Given the description of an element on the screen output the (x, y) to click on. 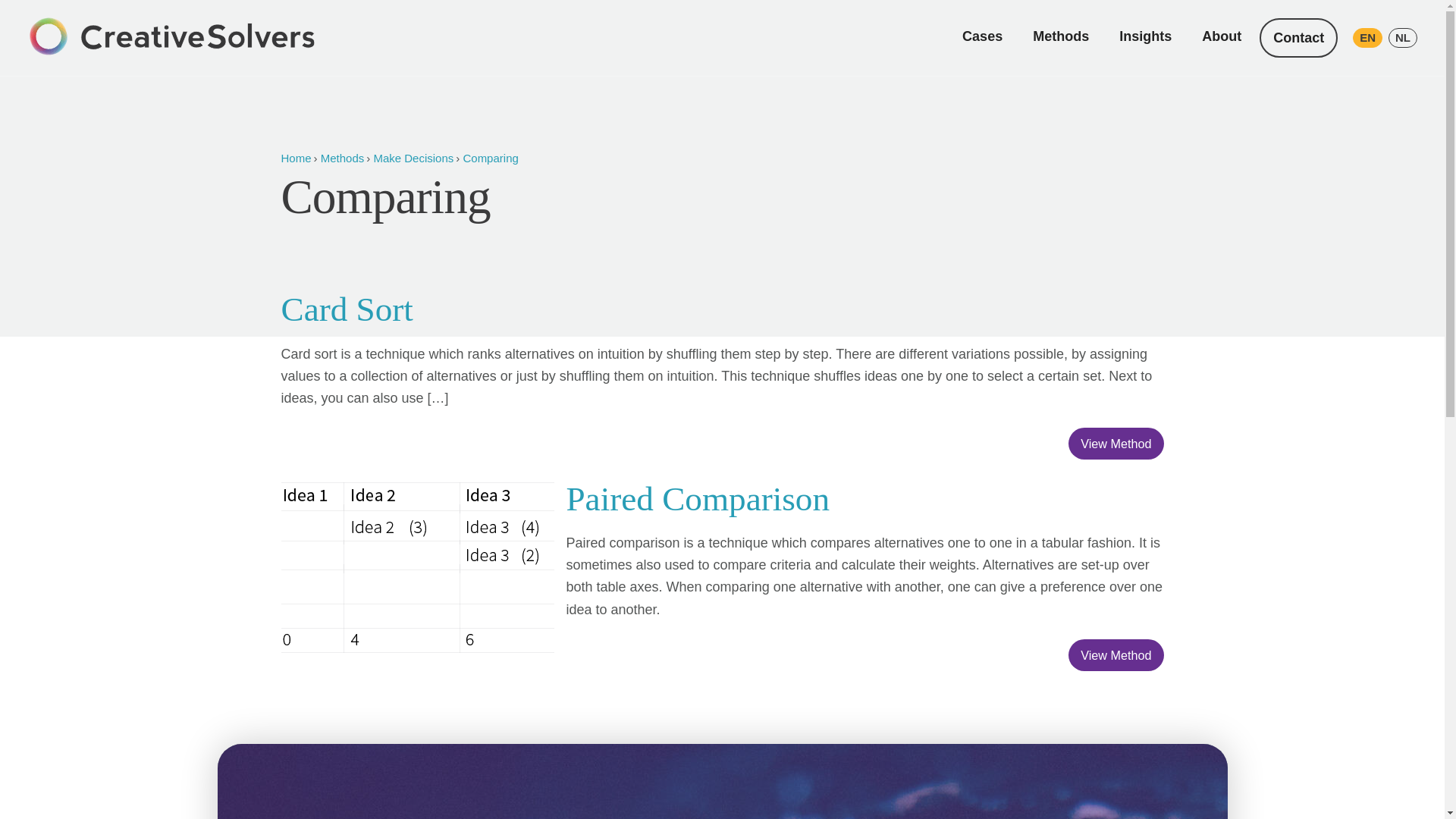
Cases (982, 36)
Make Decisions (412, 157)
Card Sort (346, 309)
Card Sort (346, 309)
EN (1366, 37)
About (1221, 36)
Contact (1298, 37)
Methods (1060, 36)
Paired Comparison (697, 498)
View Method (1115, 654)
